Given the description of an element on the screen output the (x, y) to click on. 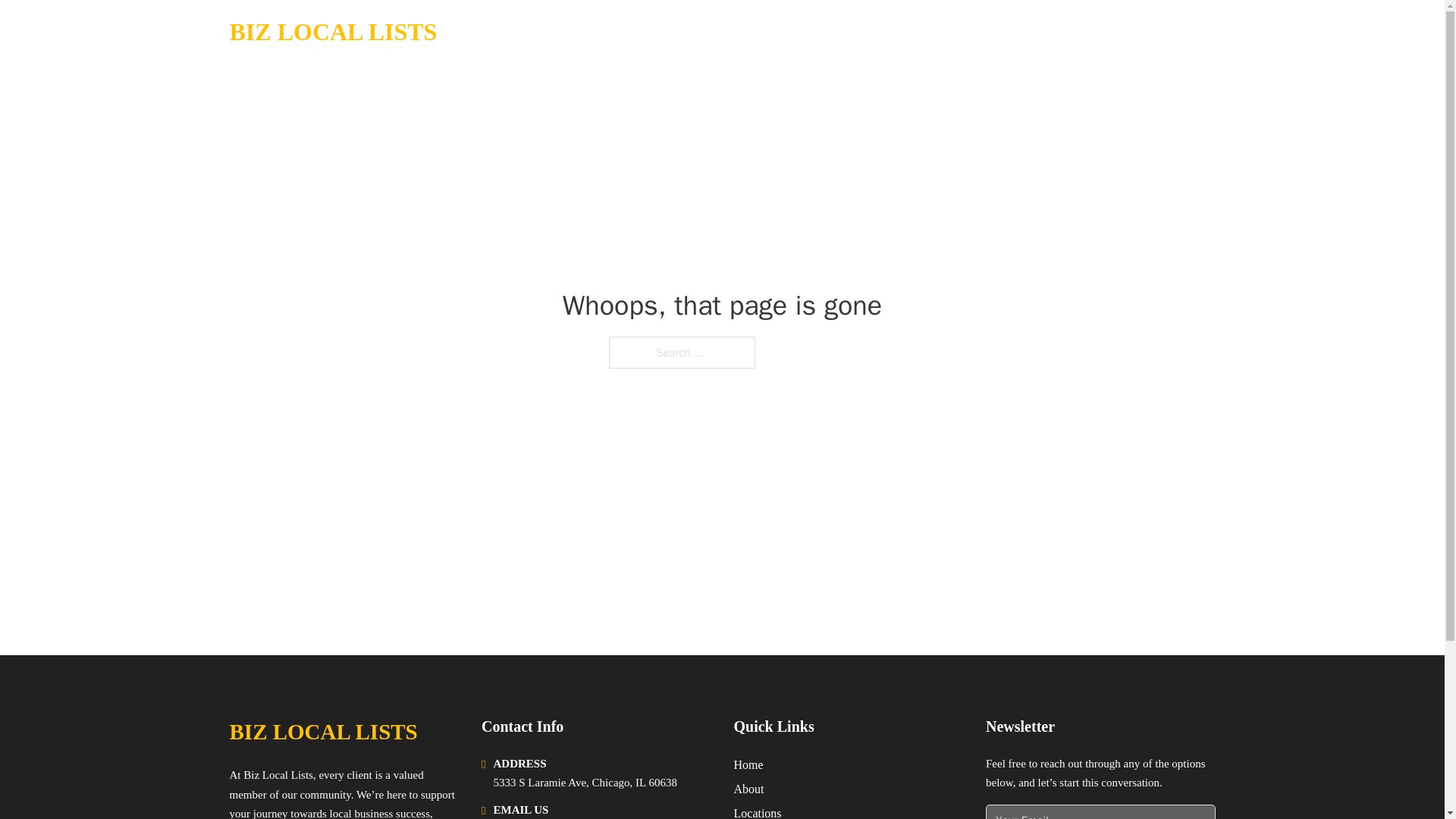
Home (747, 764)
HOME (1002, 31)
LOCATIONS (1075, 31)
BIZ LOCAL LISTS (322, 732)
About (748, 788)
BIZ LOCAL LISTS (332, 31)
Locations (757, 811)
